Given the description of an element on the screen output the (x, y) to click on. 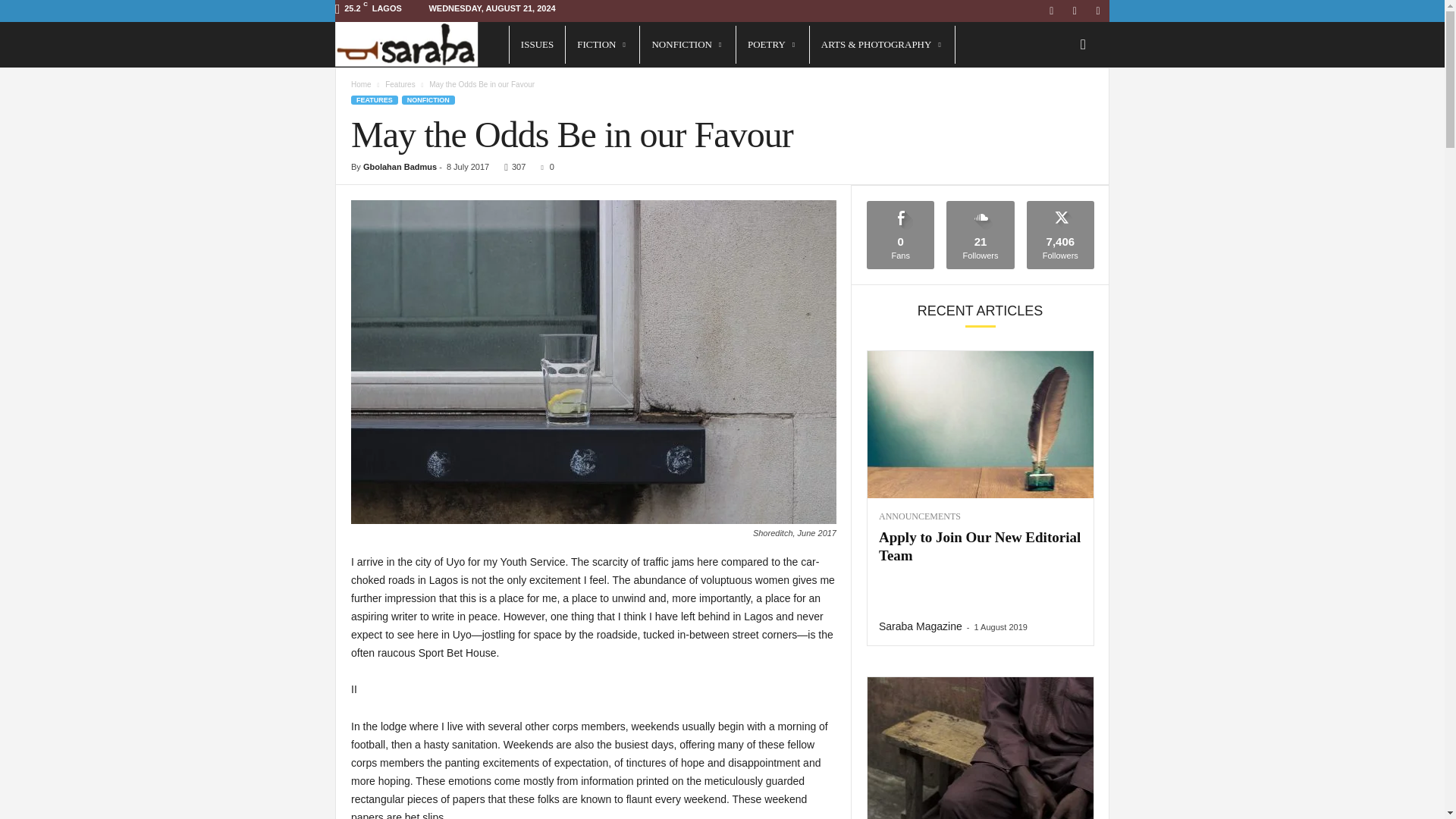
NONFICTION (687, 44)
Saraba Magazine (421, 44)
FICTION (602, 44)
ISSUES (536, 44)
